Given the description of an element on the screen output the (x, y) to click on. 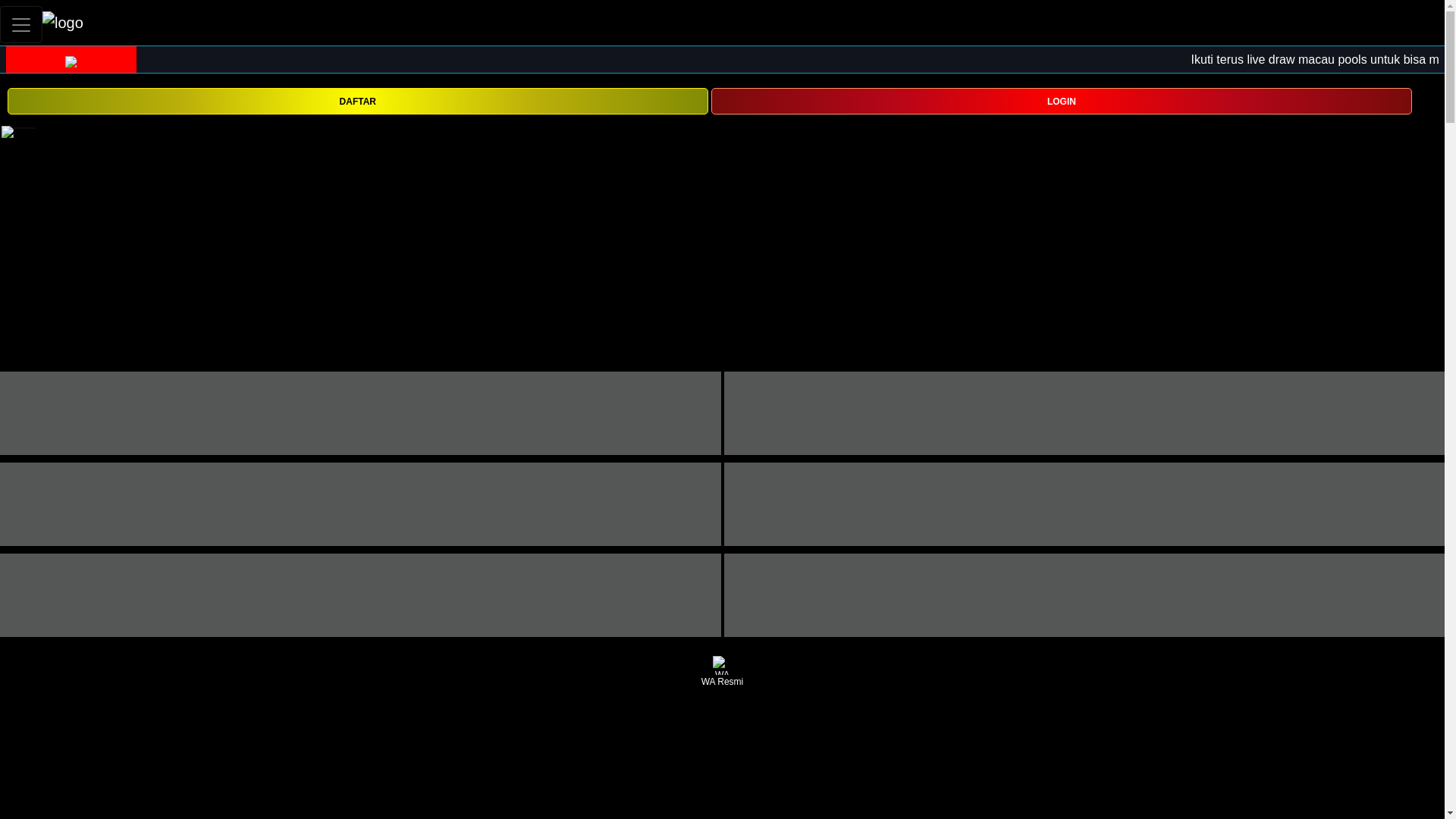
WA Resmi (722, 672)
DAFTAR (357, 100)
DAFTAR (357, 100)
LOGIN (1061, 100)
LOGIN (1061, 100)
